Given the description of an element on the screen output the (x, y) to click on. 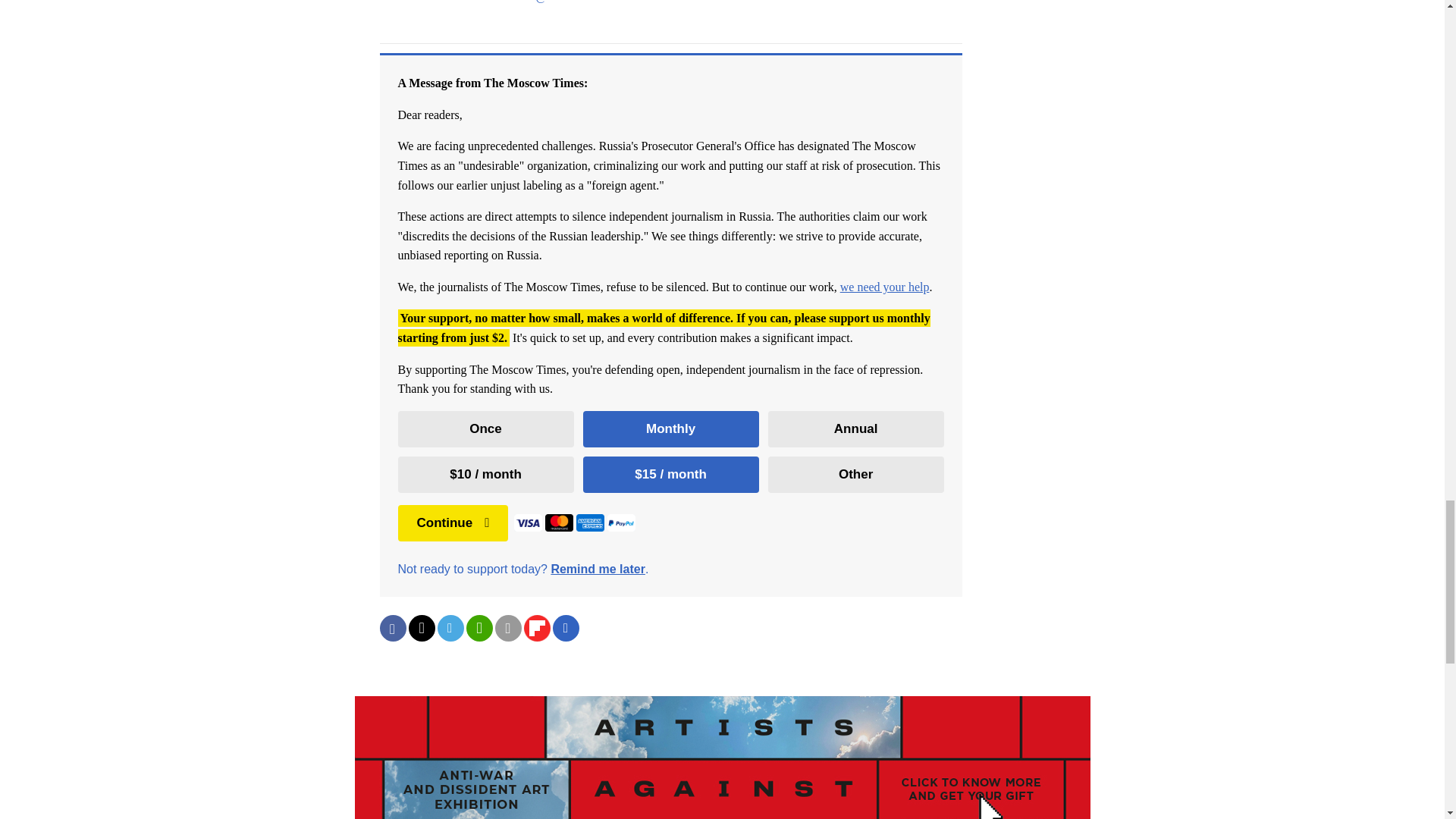
we need your help (885, 286)
Share on Twitter (420, 628)
Share on Facebook (392, 628)
Share on Telegram (449, 628)
Share on Flipboard (536, 628)
